Given the description of an element on the screen output the (x, y) to click on. 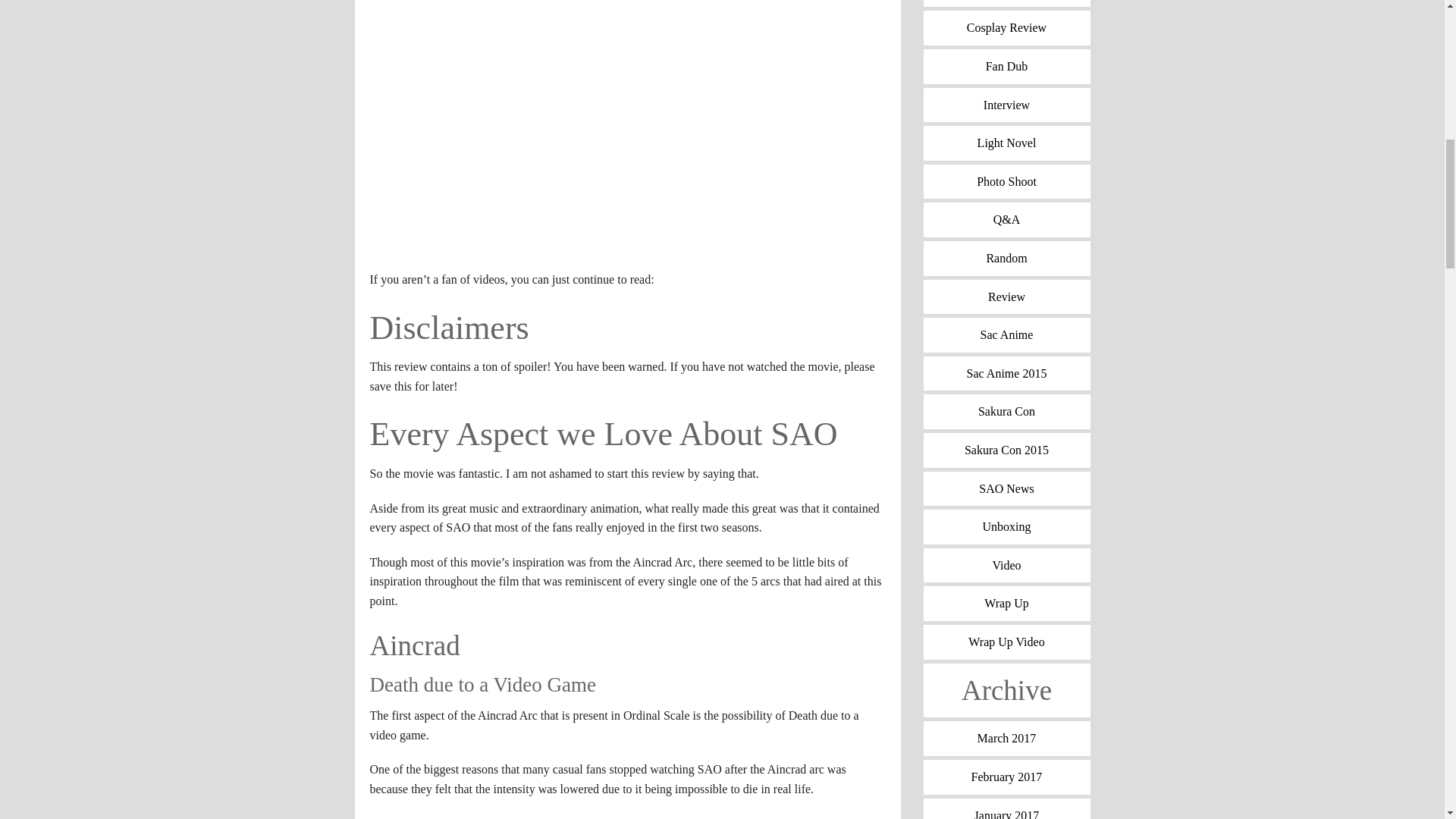
Photo Shoot (1006, 181)
SAO News (1006, 488)
Sakura Con (1006, 411)
Cosplay Gathering (1006, 3)
Random (1006, 258)
Sac Anime 2015 (1006, 373)
Sakura Con 2015 (1006, 450)
Sac Anime (1006, 334)
Fan Dub (1006, 66)
Interview (1006, 104)
